Given the description of an element on the screen output the (x, y) to click on. 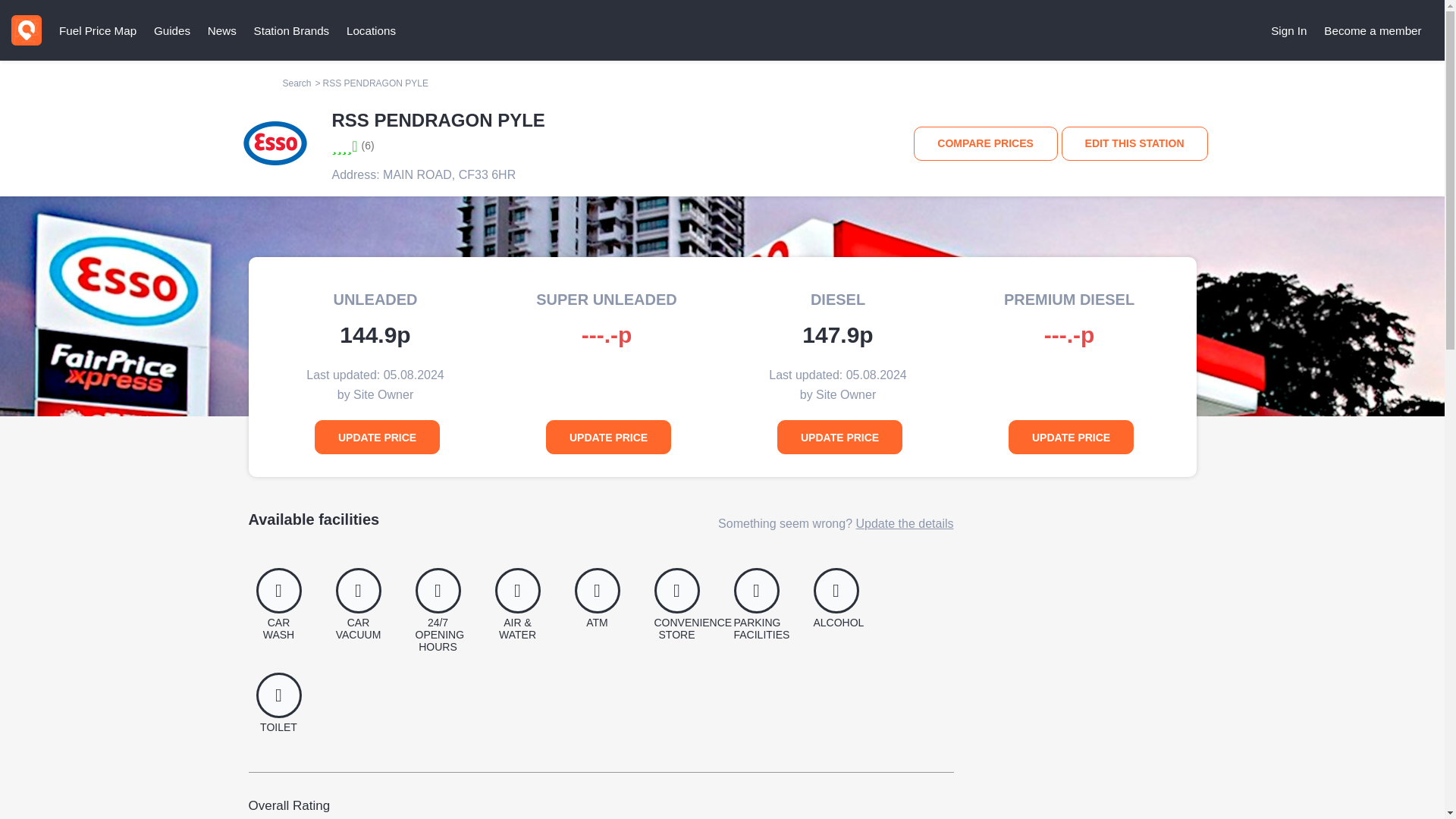
UPDATE PRICE (608, 437)
UPDATE PRICE (1071, 437)
Sign In (1289, 30)
Fuel Price Map (96, 30)
UPDATE PRICE (839, 437)
Update the details (904, 522)
UPDATE PRICE (376, 437)
News (221, 30)
COMPARE PRICES (986, 143)
Search (296, 82)
Station Brands (290, 30)
Become a member (1373, 30)
Guides (171, 30)
Locations (370, 30)
EDIT THIS STATION (1134, 143)
